Given the description of an element on the screen output the (x, y) to click on. 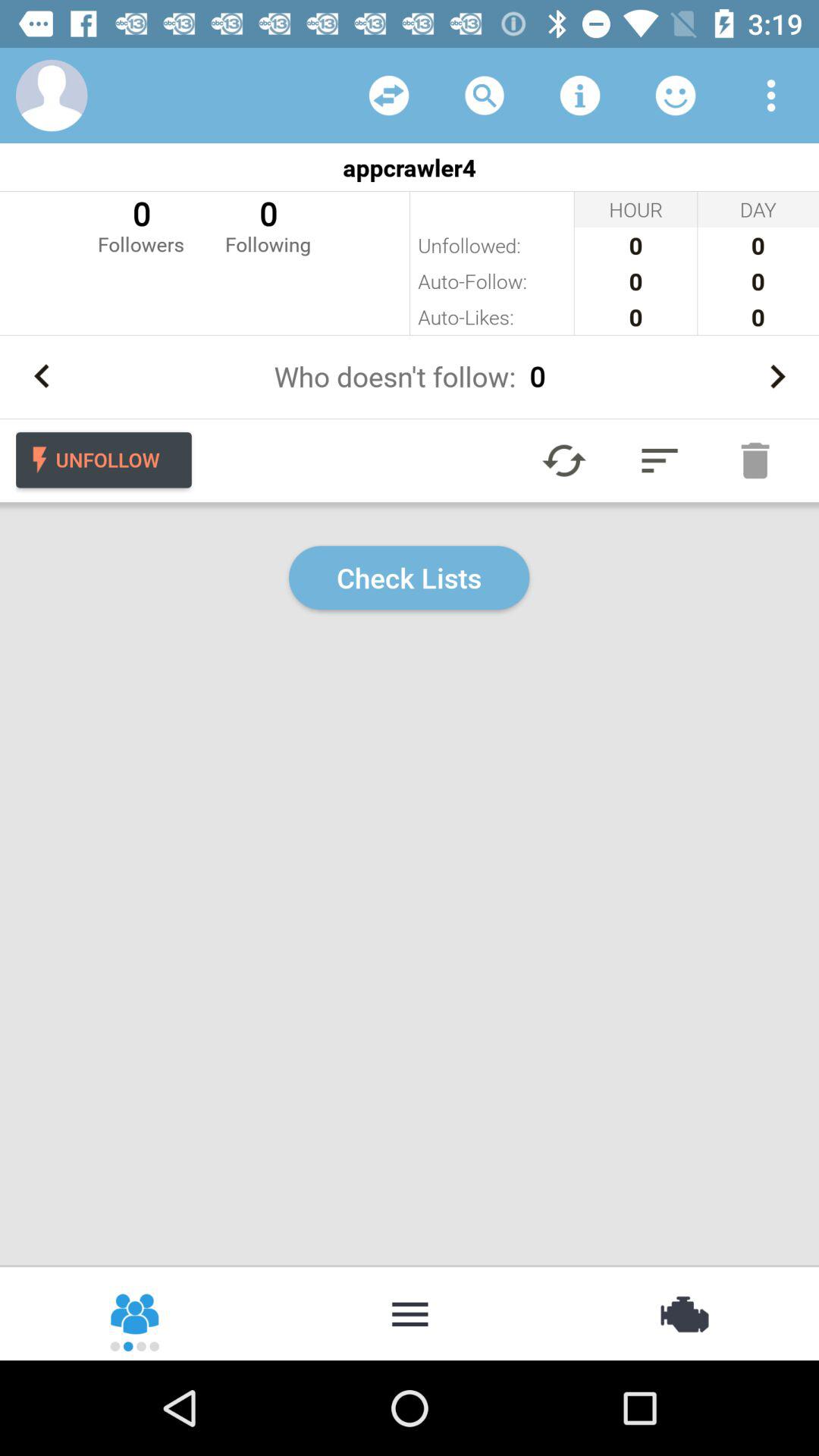
go to menu (409, 1312)
